Given the description of an element on the screen output the (x, y) to click on. 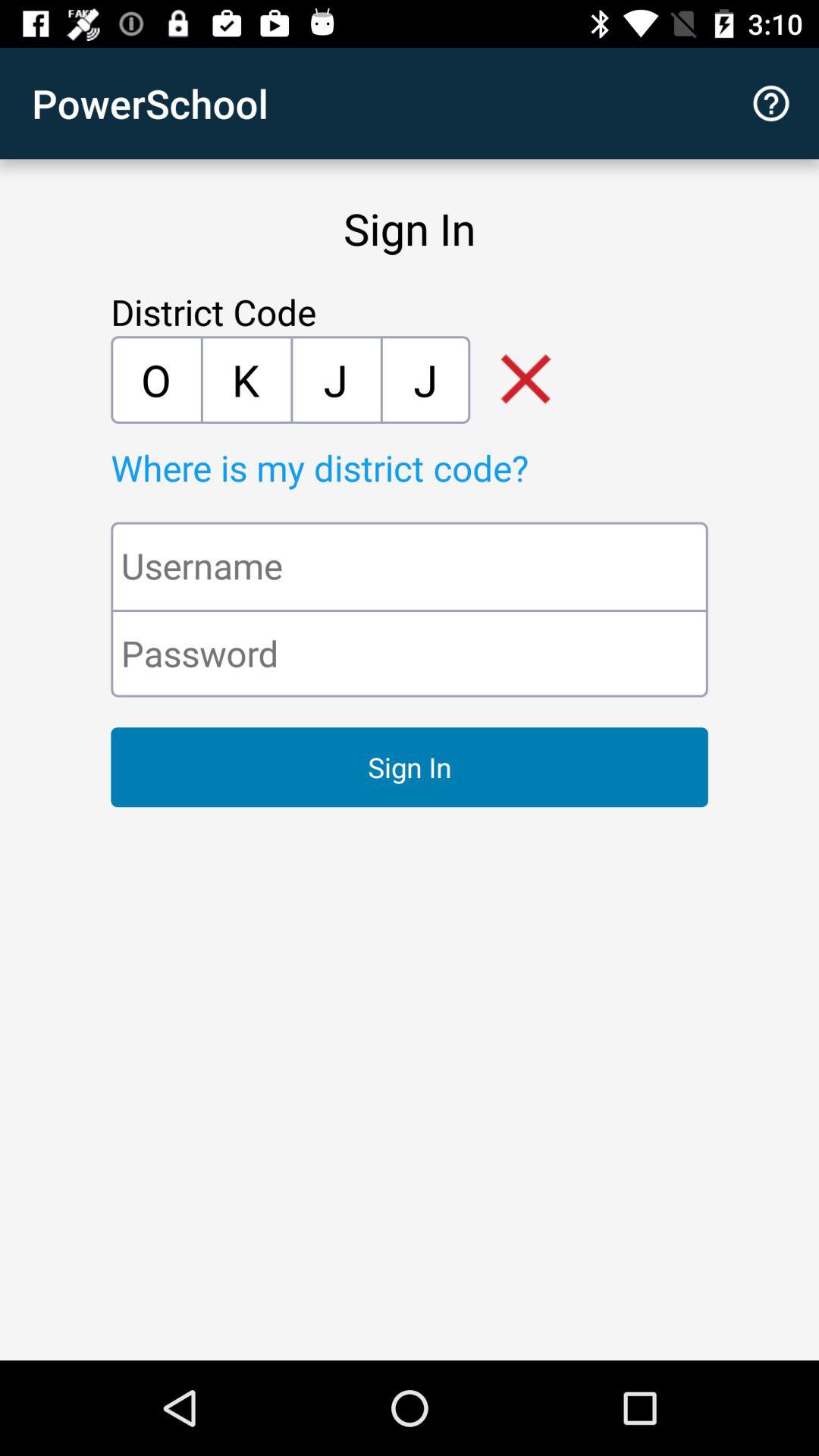
enter password info (409, 653)
